Given the description of an element on the screen output the (x, y) to click on. 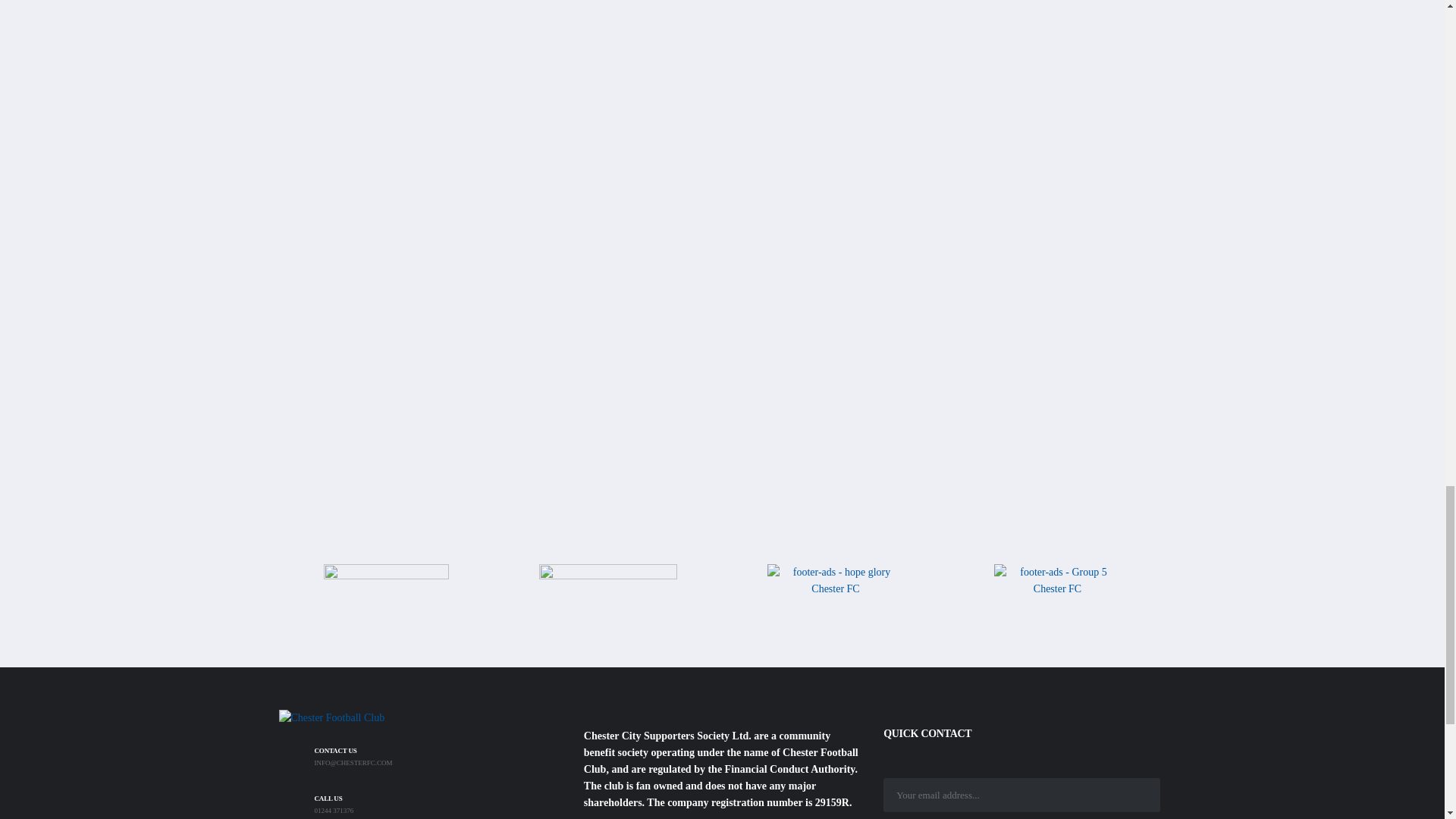
mbna-2019-1 (607, 595)
hope glory photo (835, 596)
UCFB Logo (722, 153)
New-Balance-80 (385, 594)
Group 5 photo (1057, 590)
